Given the description of an element on the screen output the (x, y) to click on. 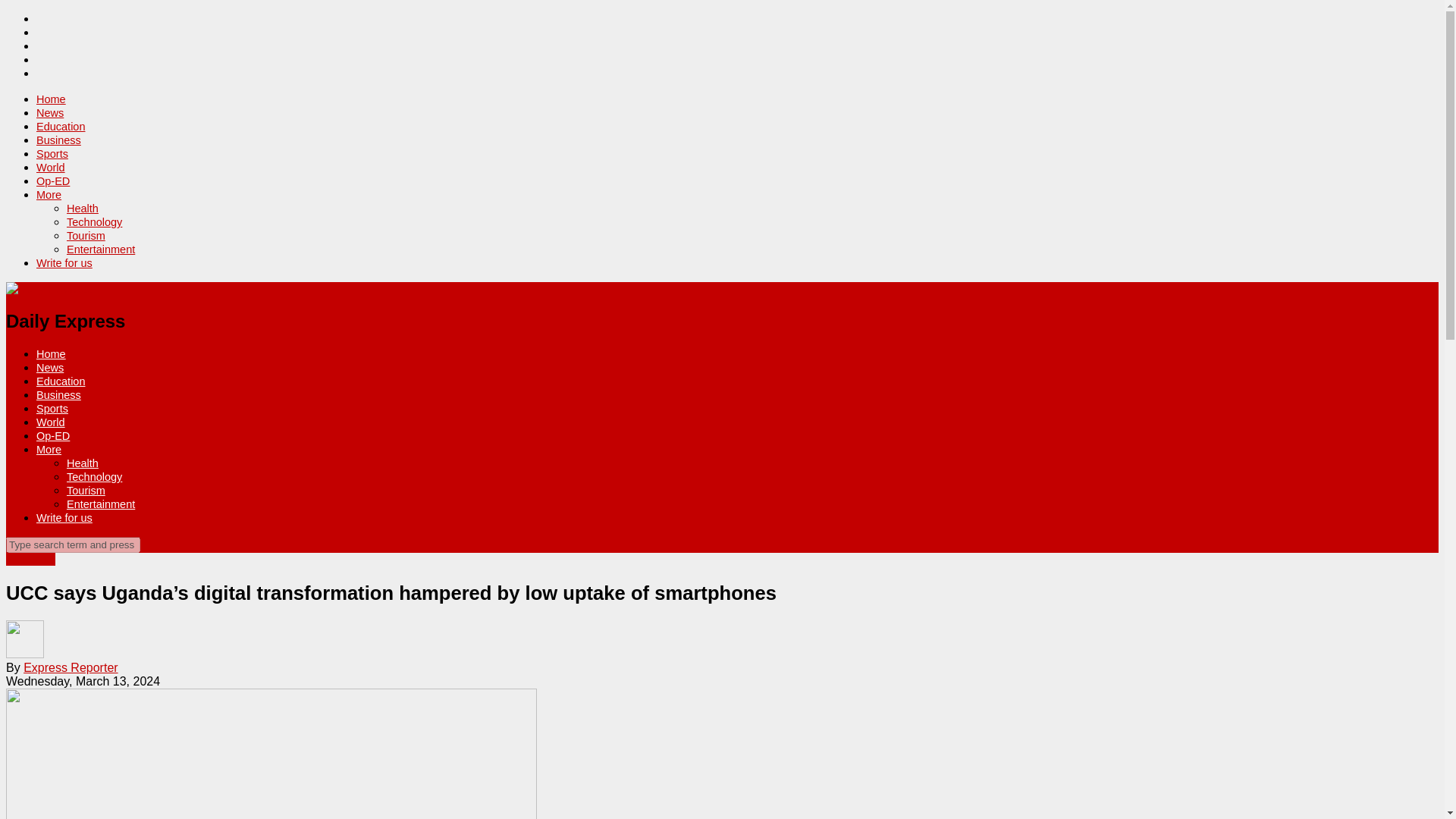
Posts by Express Reporter (70, 667)
World (50, 167)
World (50, 422)
Business (58, 395)
Sports (52, 153)
Tourism (85, 235)
More (48, 194)
Technology (94, 476)
Home (50, 99)
Entertainment (100, 503)
News (50, 367)
Entertainment (100, 249)
Education (60, 381)
Write for us (64, 263)
Health (82, 463)
